Given the description of an element on the screen output the (x, y) to click on. 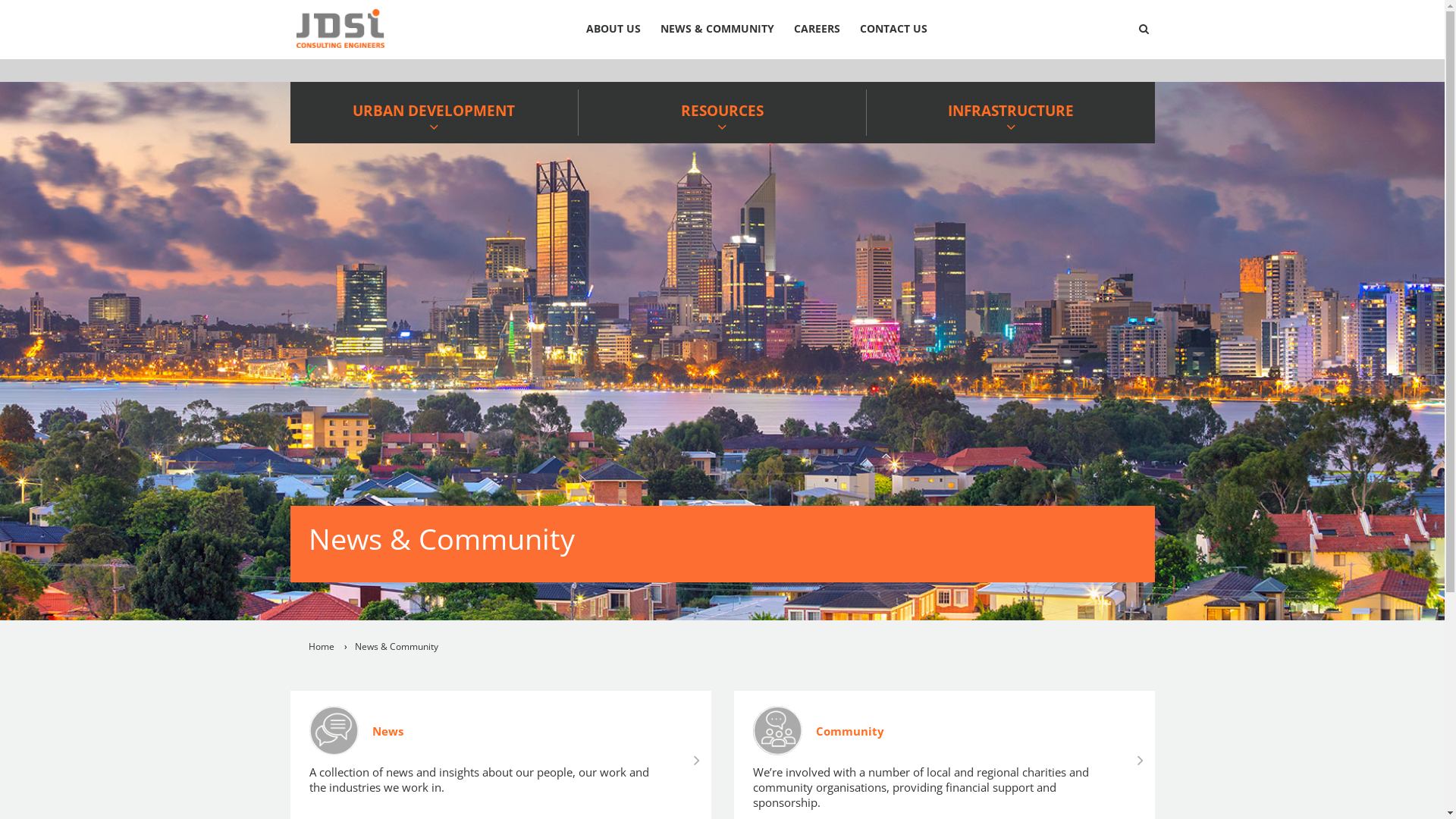
INFRASTRUCTURE Element type: text (1010, 112)
Home Element type: text (320, 646)
ABOUT US Element type: text (613, 28)
CAREERS Element type: text (816, 28)
RESOURCES Element type: text (721, 112)
CONTACT US Element type: text (892, 28)
NEWS & COMMUNITY Element type: text (717, 28)
URBAN DEVELOPMENT Element type: text (433, 112)
